Given the description of an element on the screen output the (x, y) to click on. 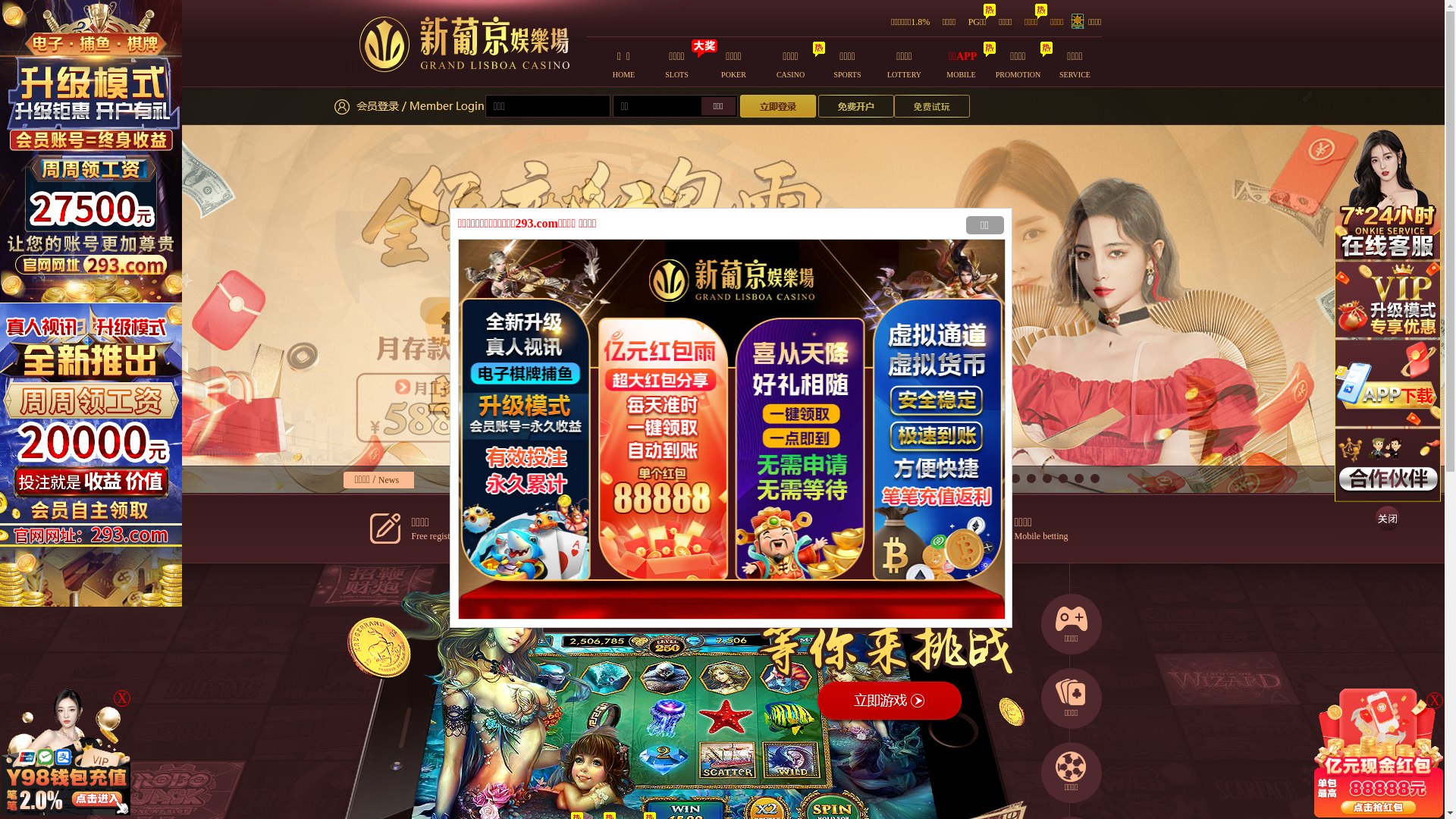
X Element type: text (1434, 700)
X Element type: text (121, 698)
